Given the description of an element on the screen output the (x, y) to click on. 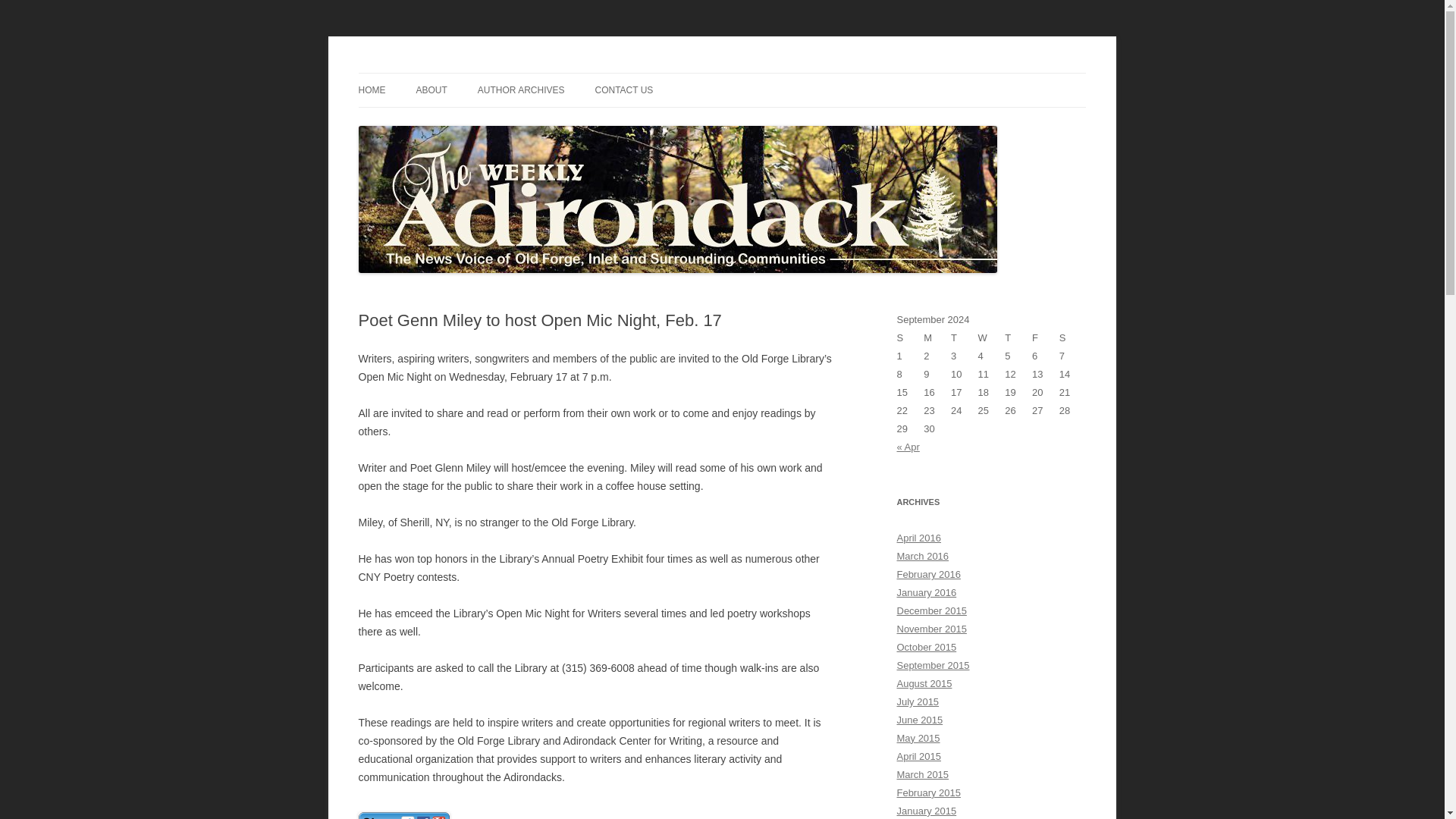
August 2015 (924, 683)
April 2015 (918, 756)
Sunday (909, 338)
AUTHOR ARCHIVES (520, 90)
Wednesday (992, 338)
February 2015 (927, 792)
March 2016 (922, 555)
February 2016 (927, 573)
Friday (1045, 338)
November 2015 (931, 628)
